Given the description of an element on the screen output the (x, y) to click on. 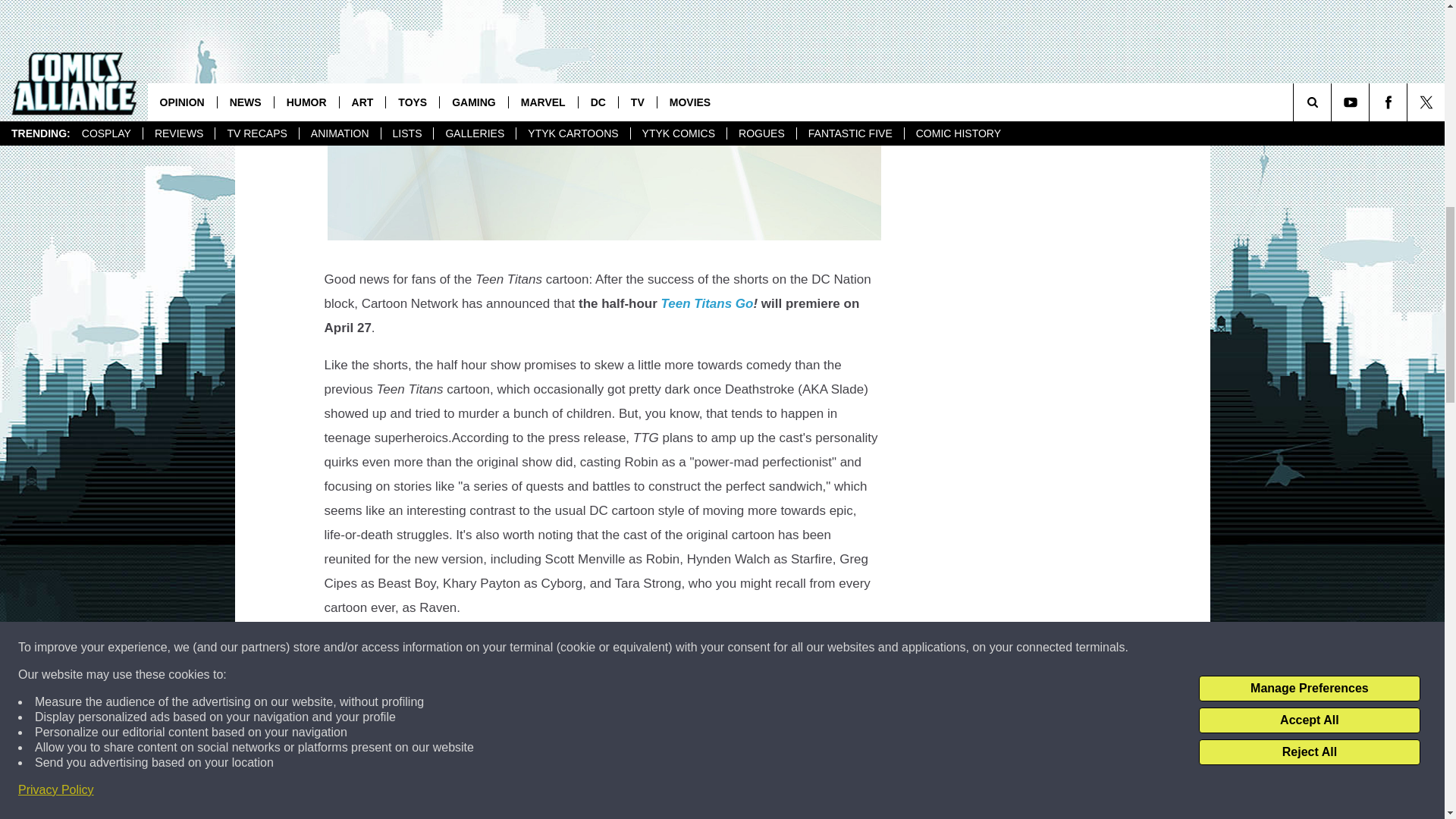
Teen Titans Go (707, 303)
